Given the description of an element on the screen output the (x, y) to click on. 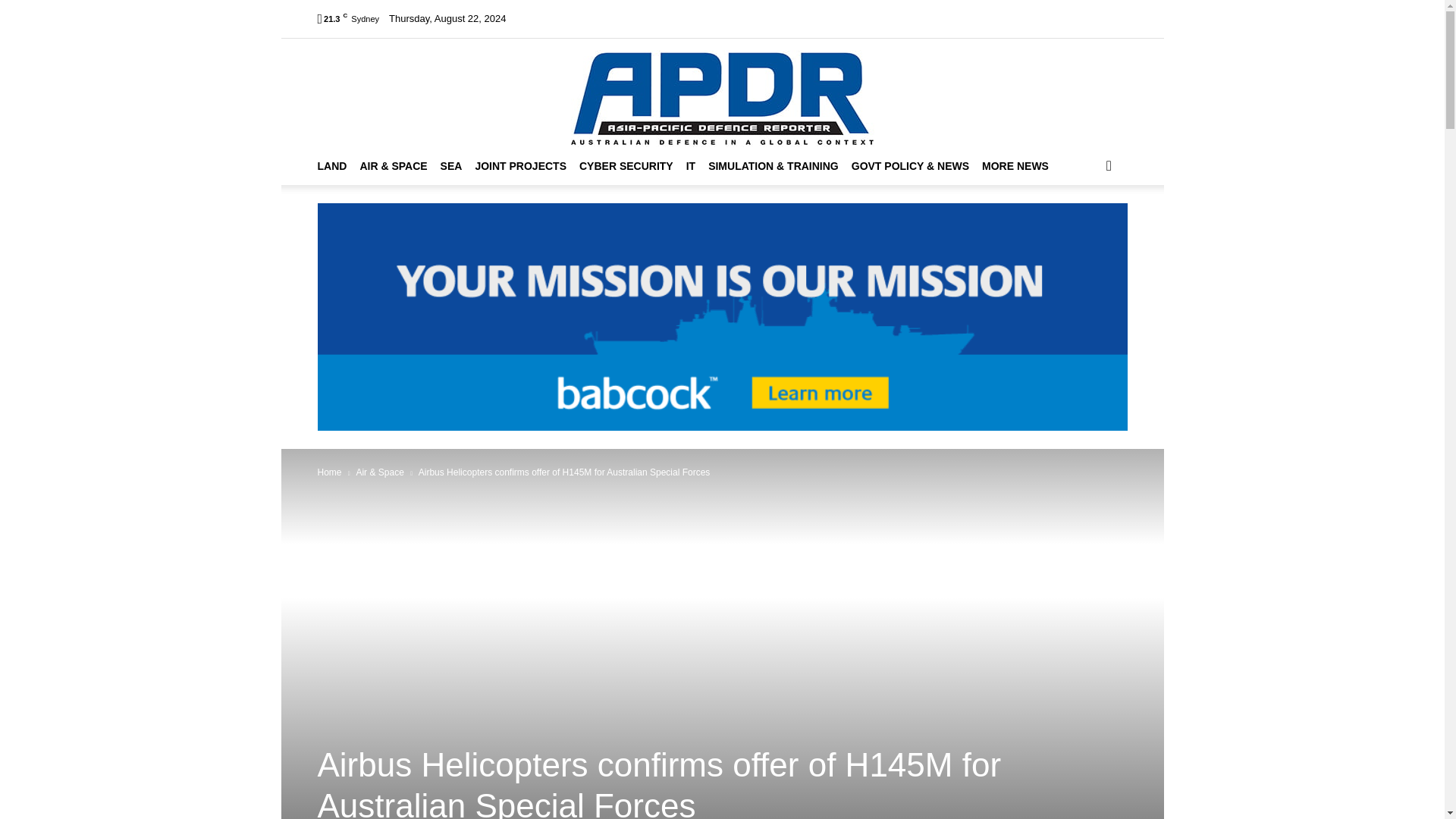
Events Calendar (643, 18)
Back Issues (760, 18)
Subscribe (821, 18)
About (581, 18)
Advertising (880, 18)
Videos (706, 18)
APDR (721, 92)
LAND (338, 166)
Home (542, 18)
Contact (932, 18)
